Given the description of an element on the screen output the (x, y) to click on. 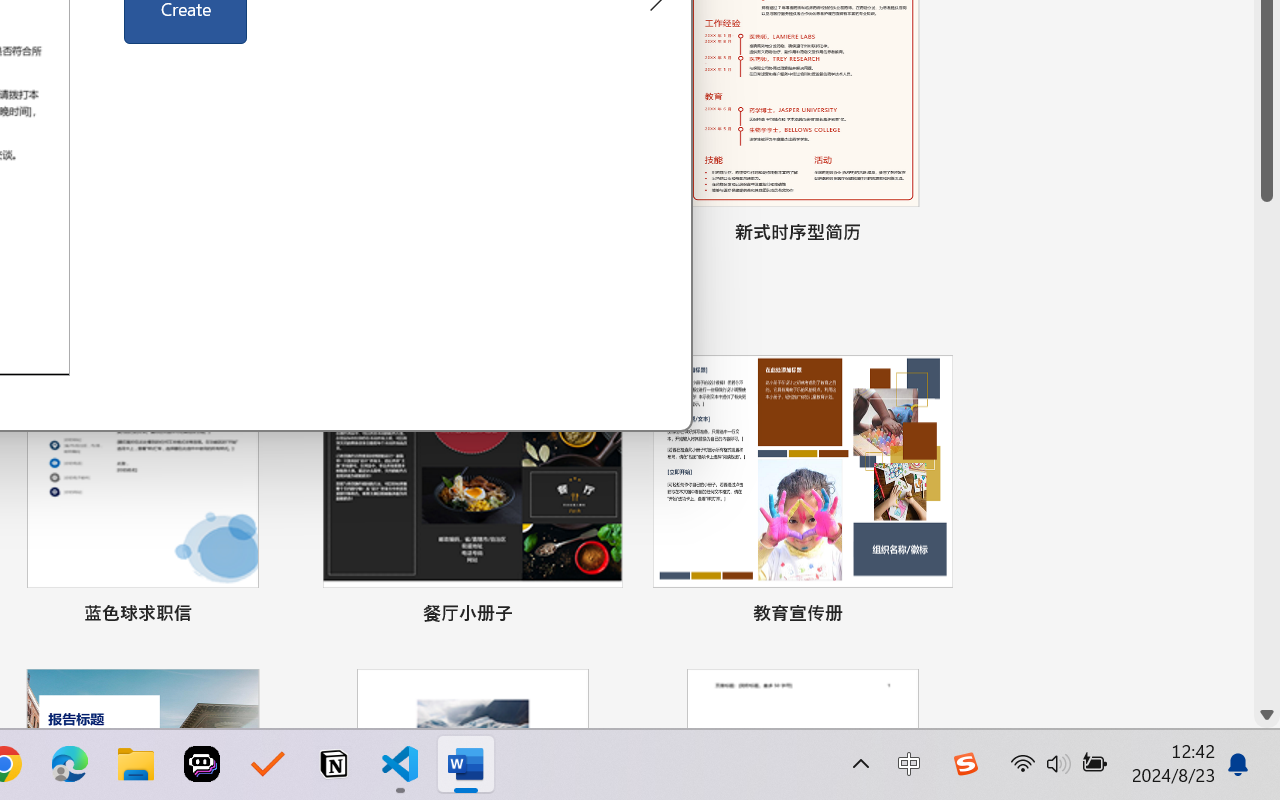
Page down (1267, 451)
Pin to list (934, 616)
Line down (1267, 715)
